Given the description of an element on the screen output the (x, y) to click on. 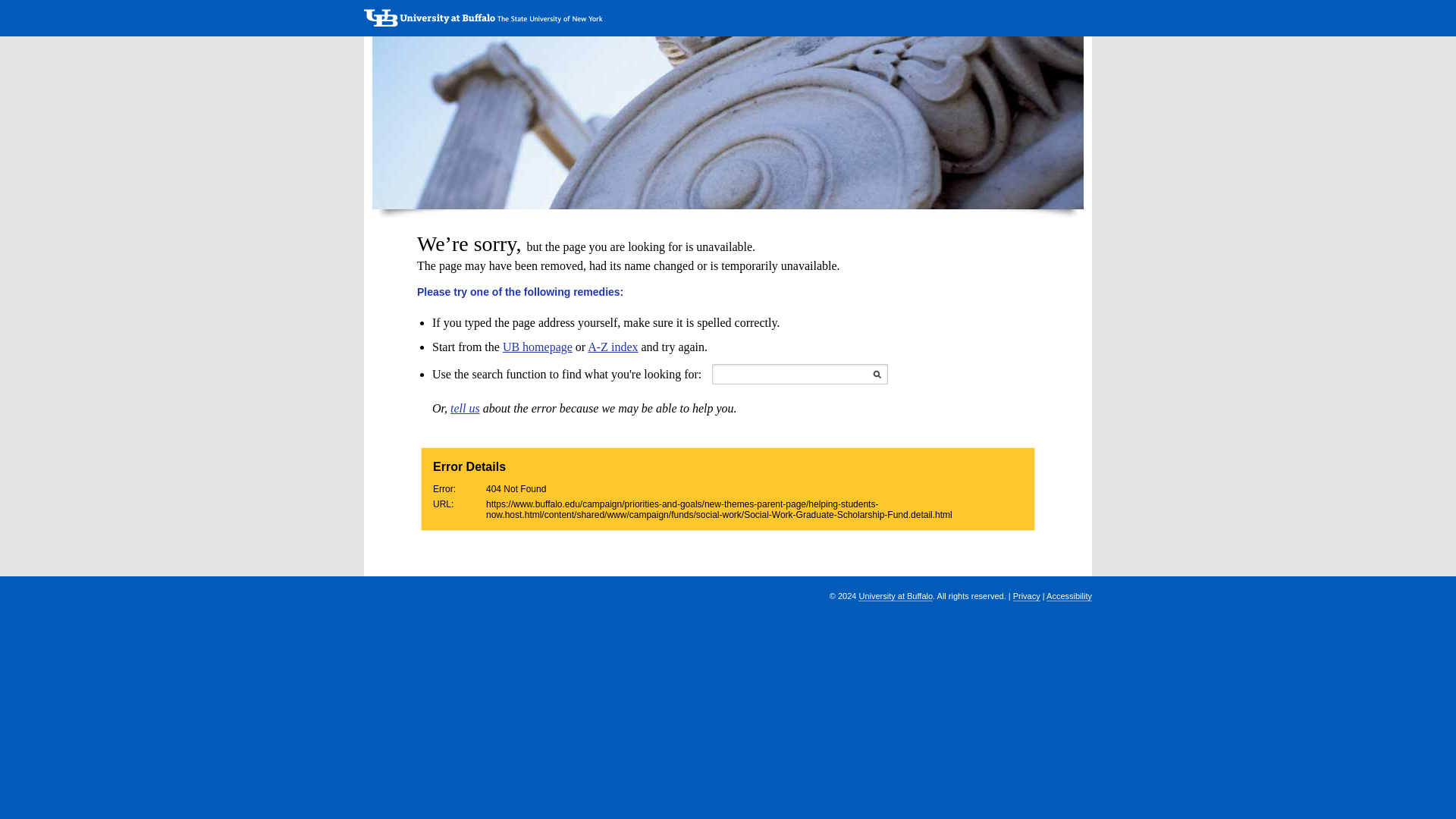
tell us (464, 408)
Search (877, 374)
Privacy (1027, 596)
Accessibility (1069, 596)
A-Z index (612, 346)
UB homepage (537, 346)
University at Buffalo (896, 596)
Search (877, 374)
